Given the description of an element on the screen output the (x, y) to click on. 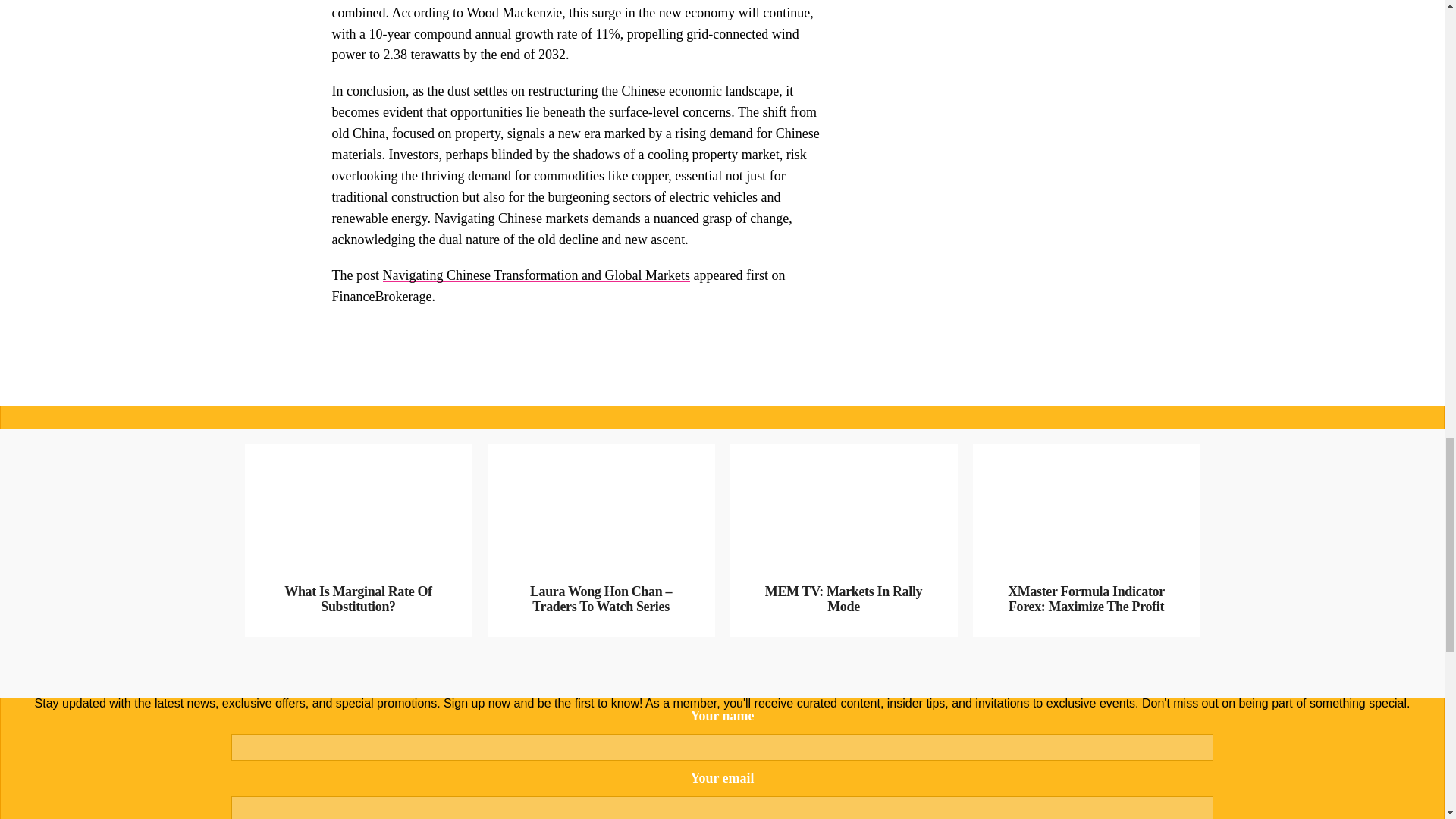
FinanceBrokerage (381, 296)
Navigating Chinese Transformation and Global Markets (534, 274)
